Given the description of an element on the screen output the (x, y) to click on. 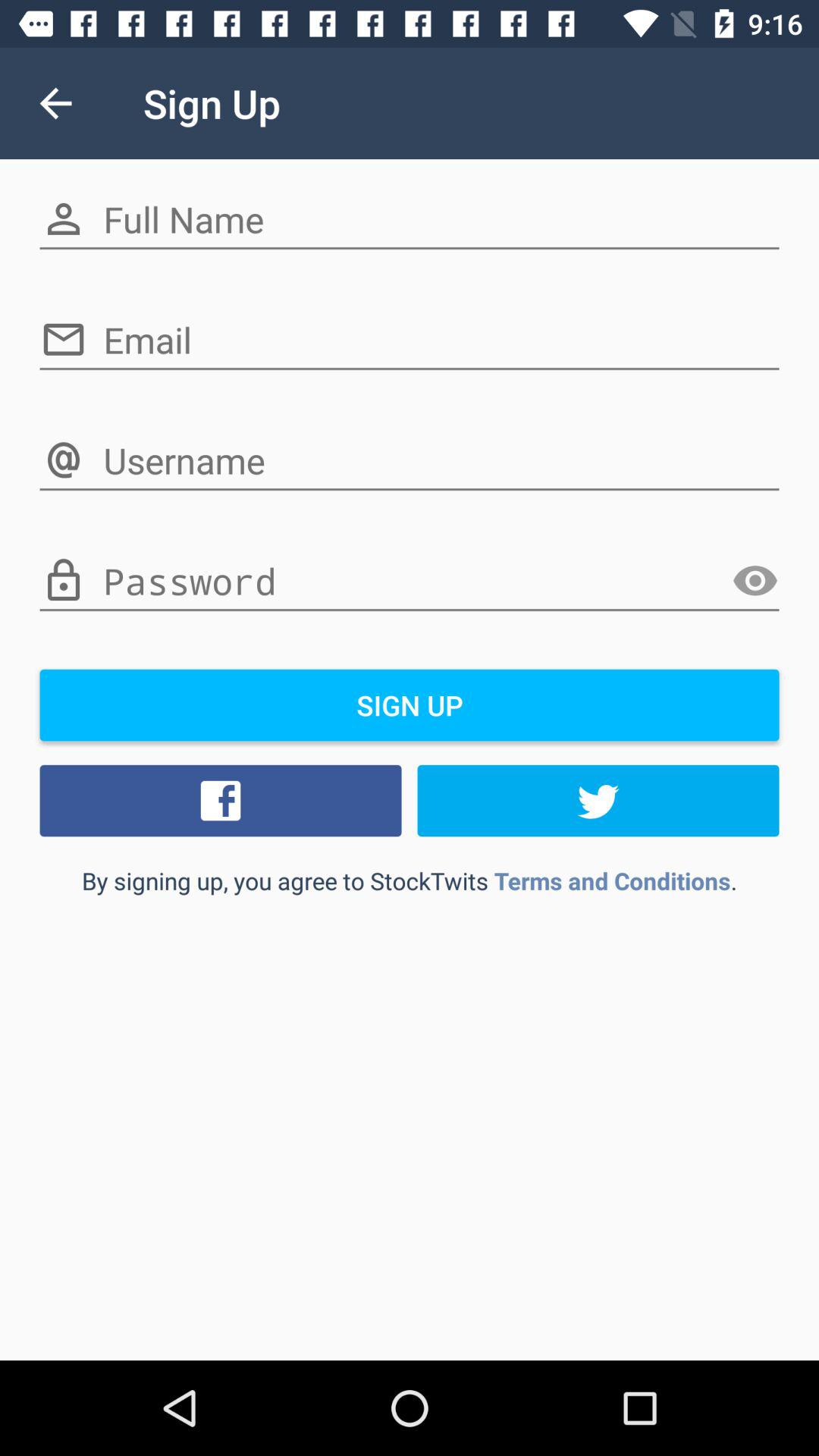
select the text box with name full name (409, 219)
select the text which is immediately below password (409, 705)
click on show icon which is on the left side of the field which says password (755, 581)
select 3rd text field on the page (409, 461)
